Given the description of an element on the screen output the (x, y) to click on. 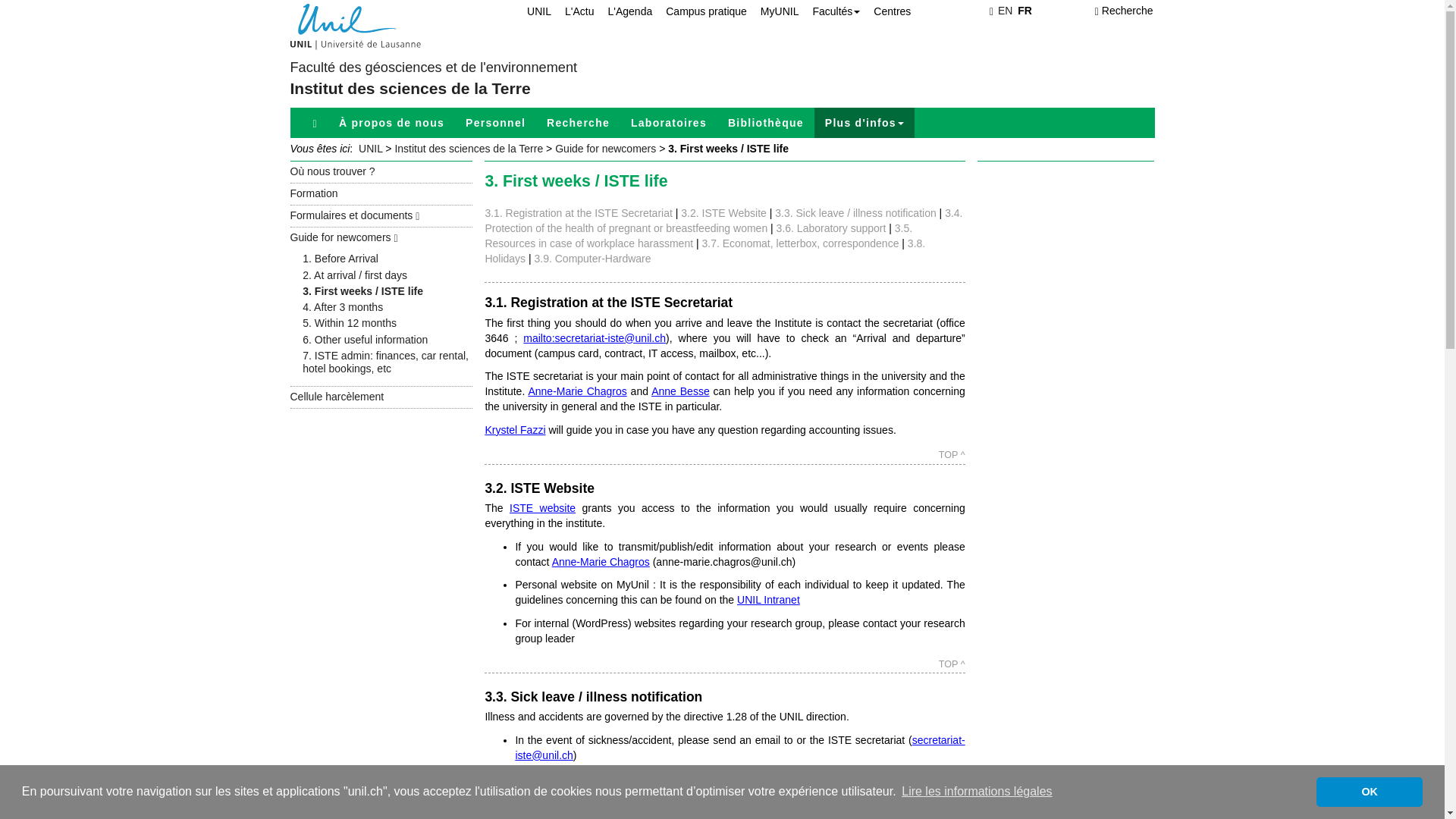
Institut des sciences de la Terre (409, 88)
Personnel (494, 122)
L'Actu (572, 10)
Centres (885, 10)
MyUNIL (772, 10)
Recherche (577, 122)
UNIL (532, 10)
EN (1004, 10)
L'Agenda (623, 10)
OK (1369, 791)
Campus pratique (699, 10)
